Given the description of an element on the screen output the (x, y) to click on. 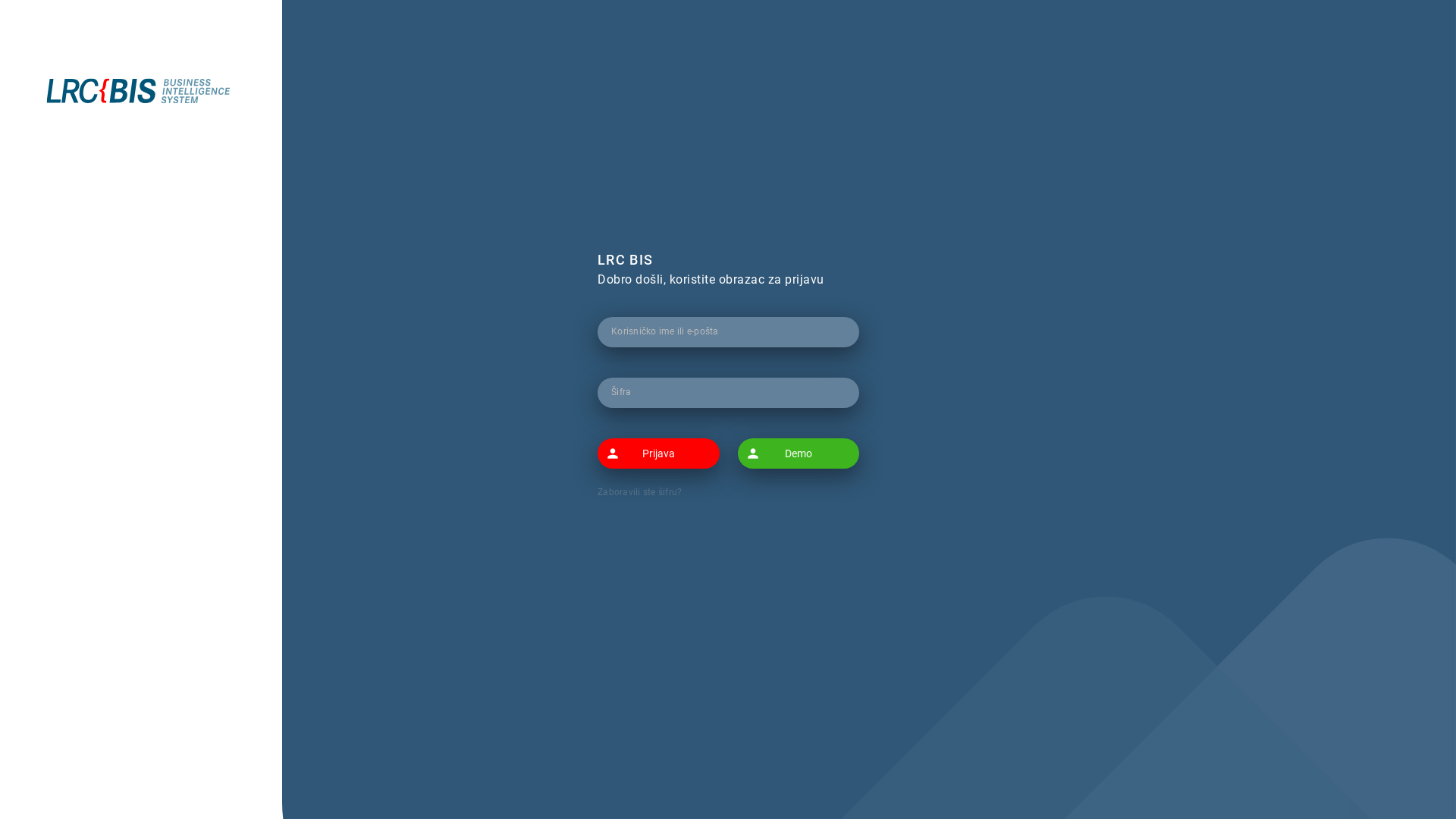
Prijava Element type: text (658, 453)
Demo Element type: text (798, 453)
